Given the description of an element on the screen output the (x, y) to click on. 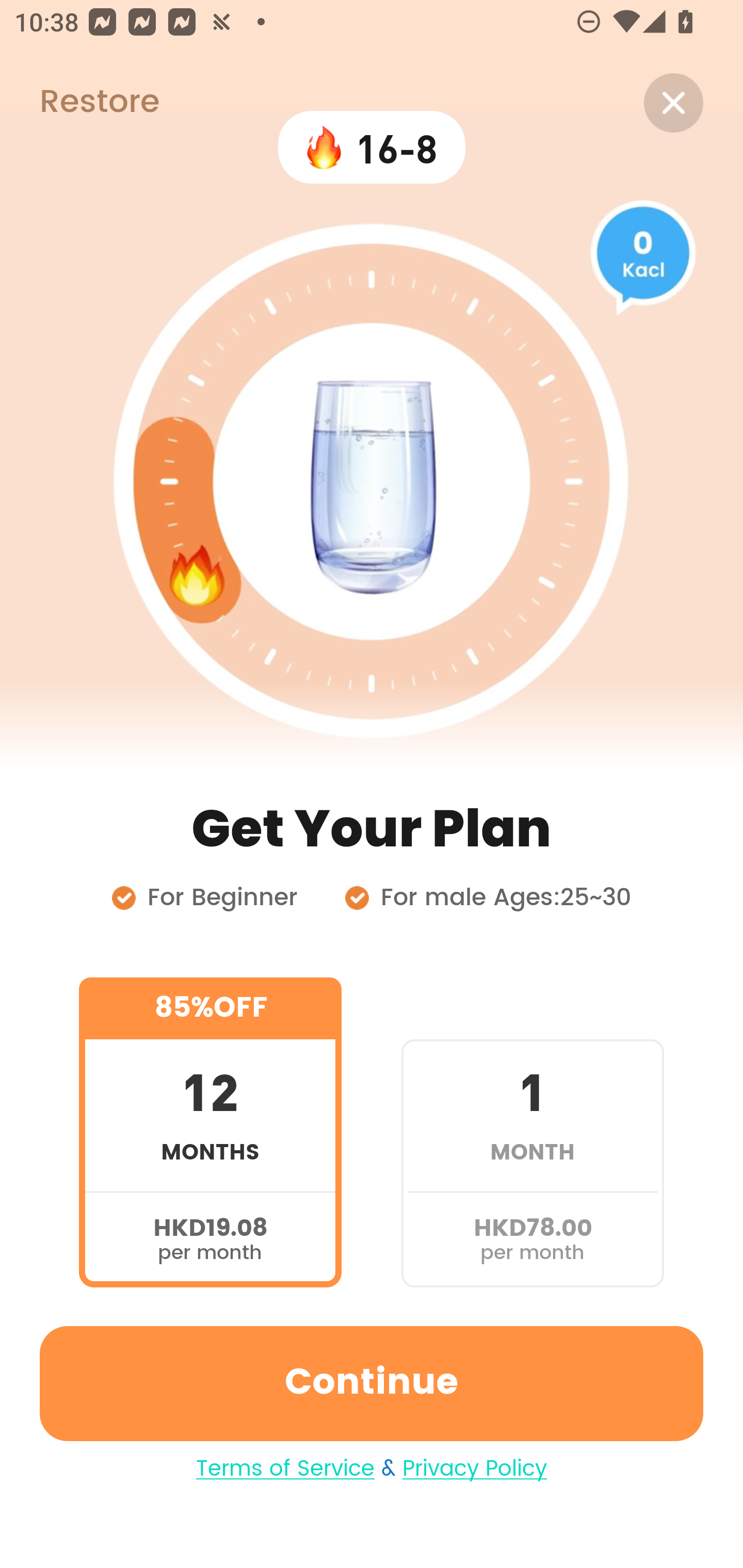
Restore (79, 102)
85%OFF 12 MONTHS per month HKD19.08 (209, 1131)
1 MONTH per month HKD78.00 (532, 1131)
Continue (371, 1383)
